Given the description of an element on the screen output the (x, y) to click on. 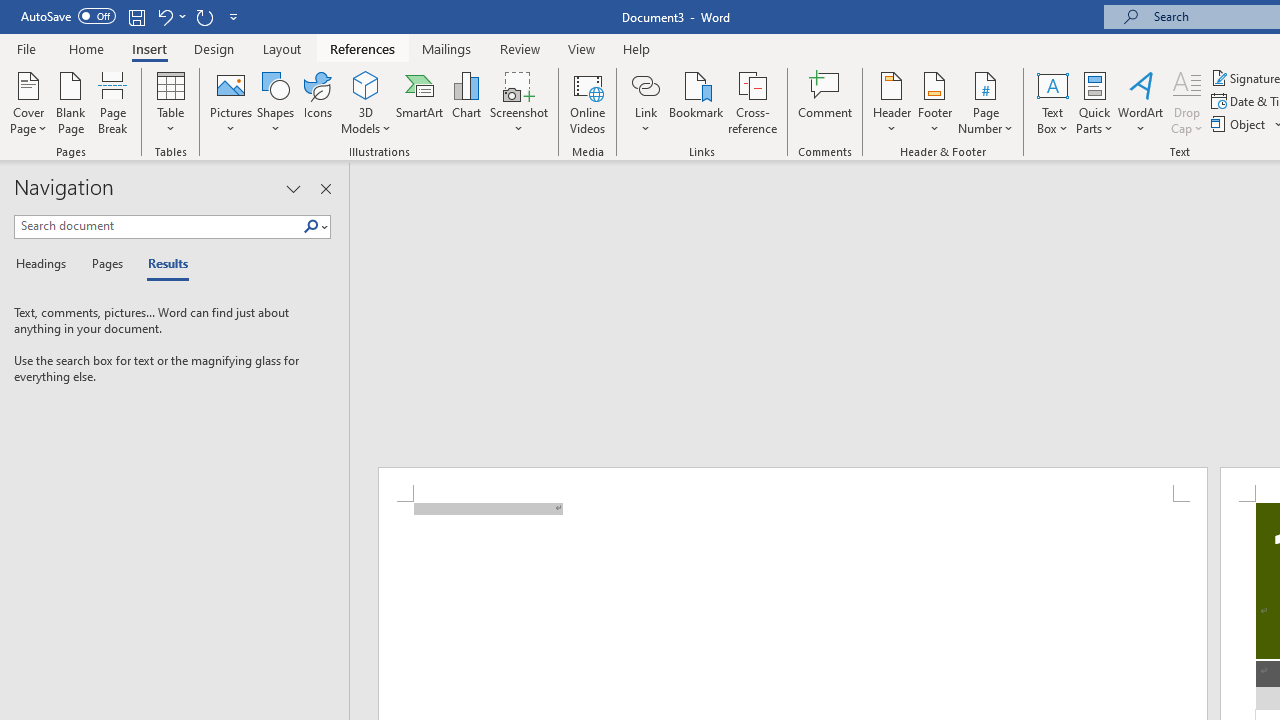
Page Break (113, 102)
Undo New Page (164, 15)
Table (170, 102)
SmartArt... (419, 102)
